Given the description of an element on the screen output the (x, y) to click on. 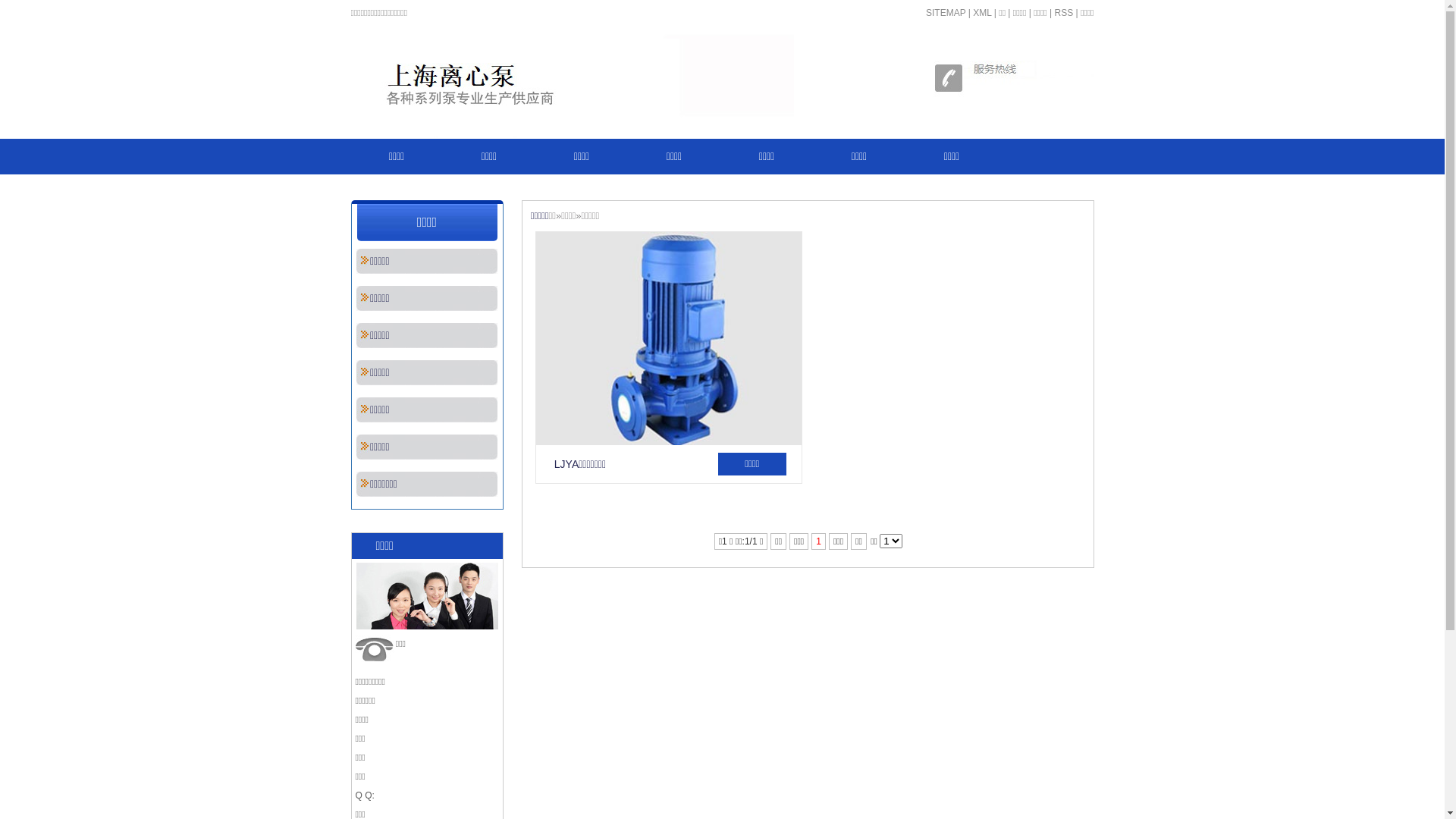
SITEMAP Element type: text (945, 12)
XML Element type: text (981, 12)
RSS Element type: text (1063, 12)
